Given the description of an element on the screen output the (x, y) to click on. 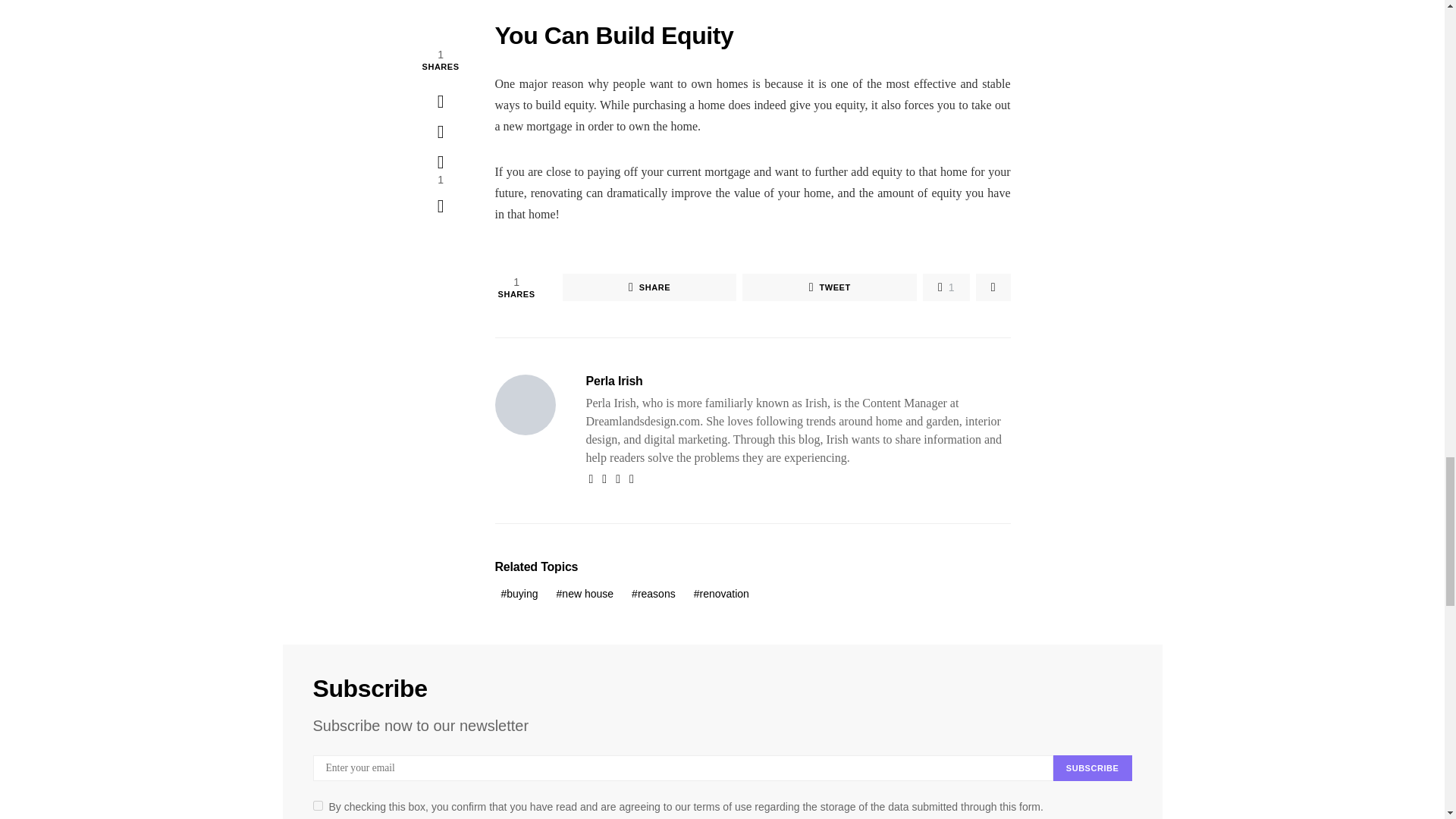
on (317, 805)
